Given the description of an element on the screen output the (x, y) to click on. 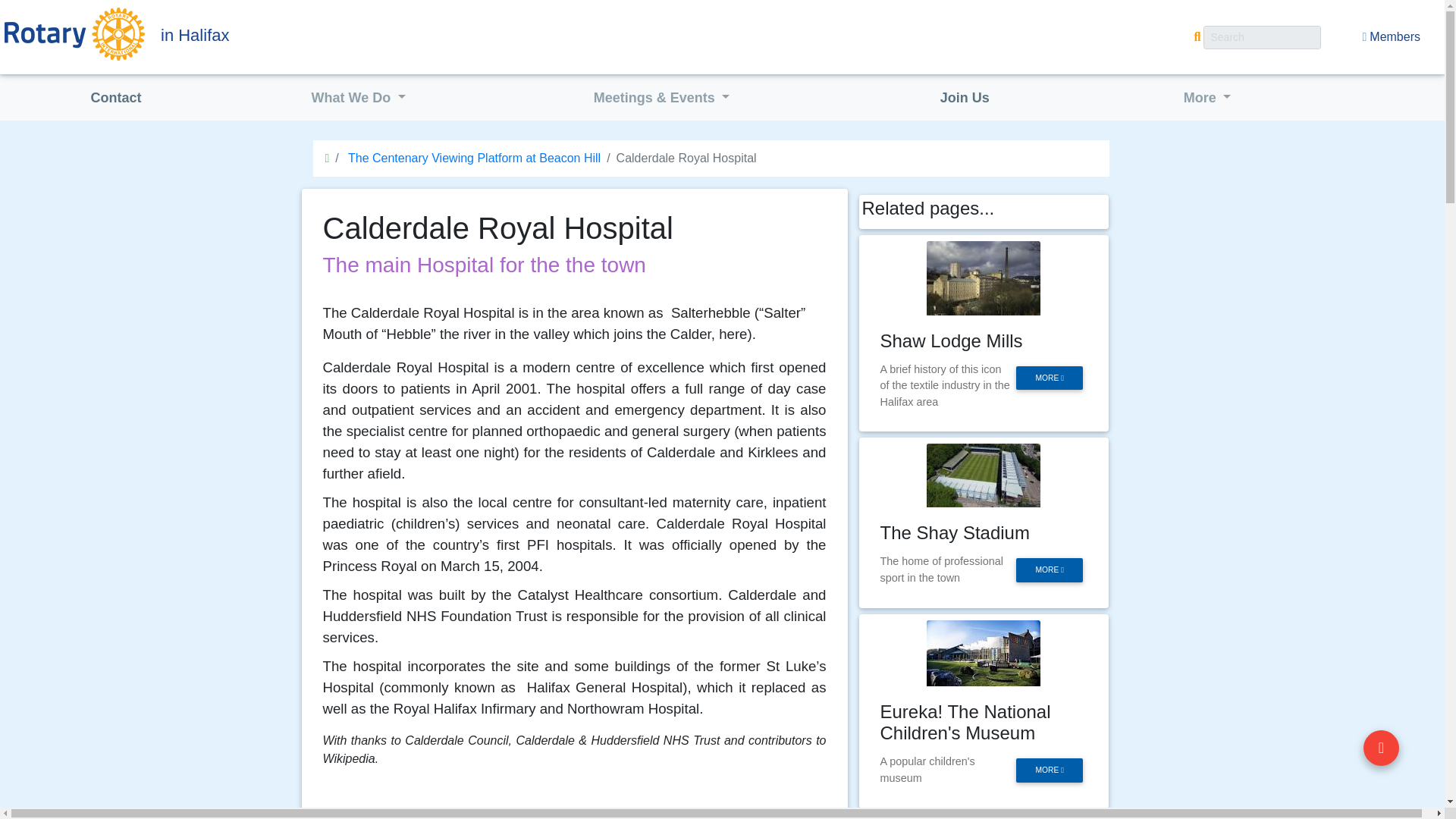
Contact (115, 97)
MORE (1049, 377)
Members (1390, 37)
The Centenary Viewing Platform at Beacon Hill (472, 157)
Join Us (964, 97)
in Halifax (299, 35)
What We Do (358, 97)
More (1207, 97)
